Given the description of an element on the screen output the (x, y) to click on. 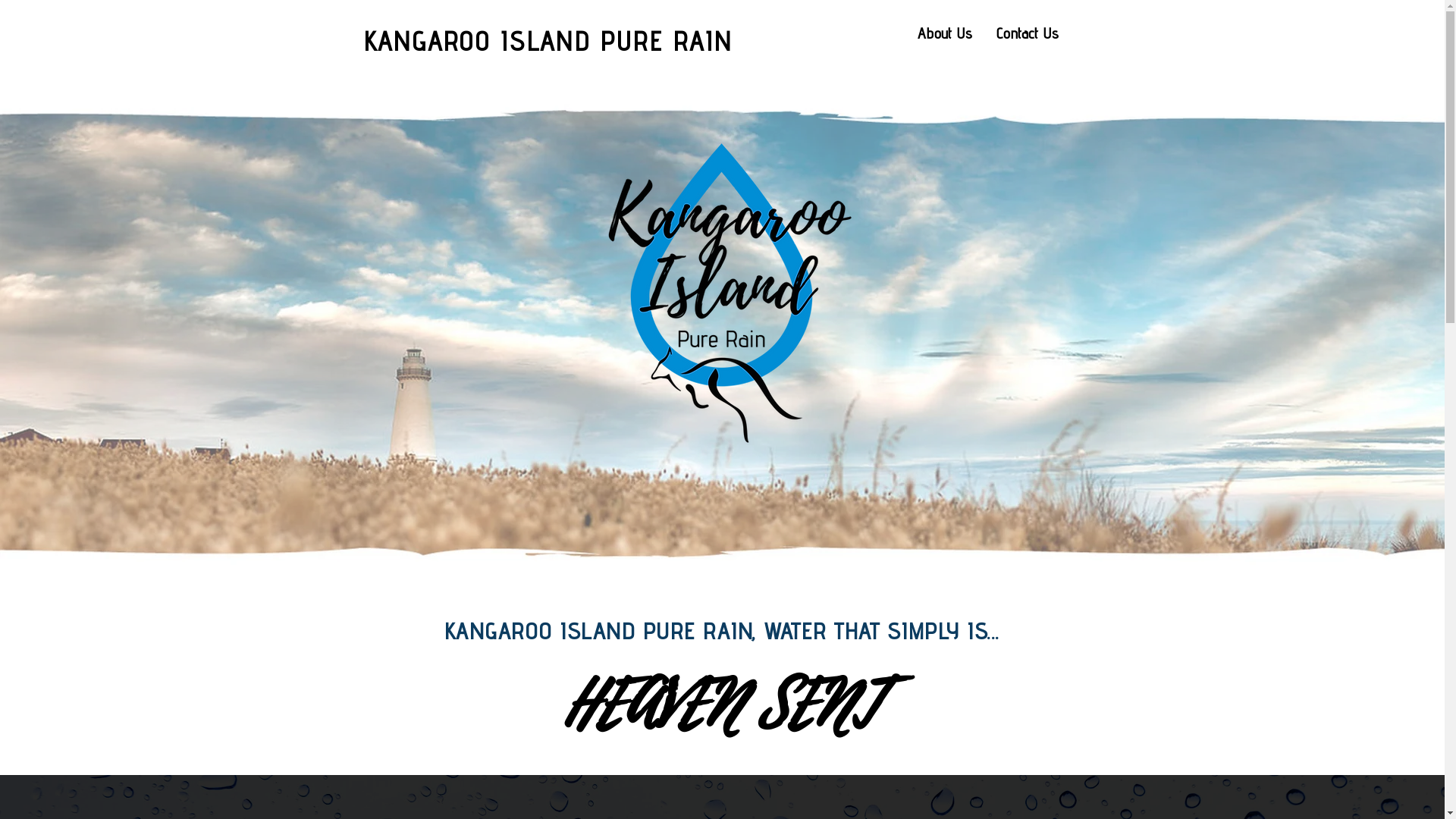
Contact Us Element type: text (1025, 33)
About Us Element type: text (944, 33)
KANGAROO ISLAND PURE RAIN Element type: text (547, 40)
